Given the description of an element on the screen output the (x, y) to click on. 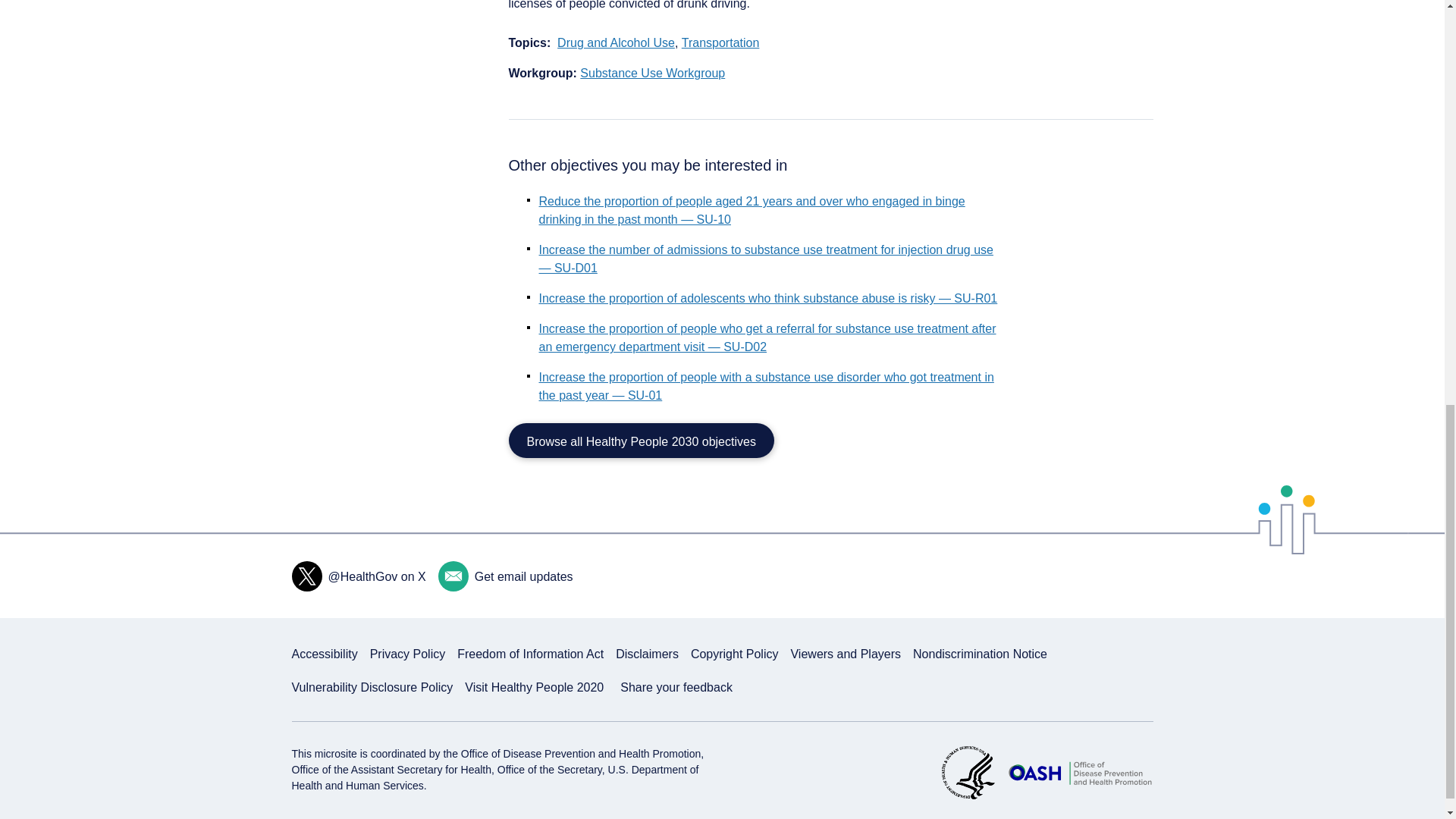
Link to Transportation page (720, 43)
Link to Drug and Alcohol Use page (616, 43)
